Given the description of an element on the screen output the (x, y) to click on. 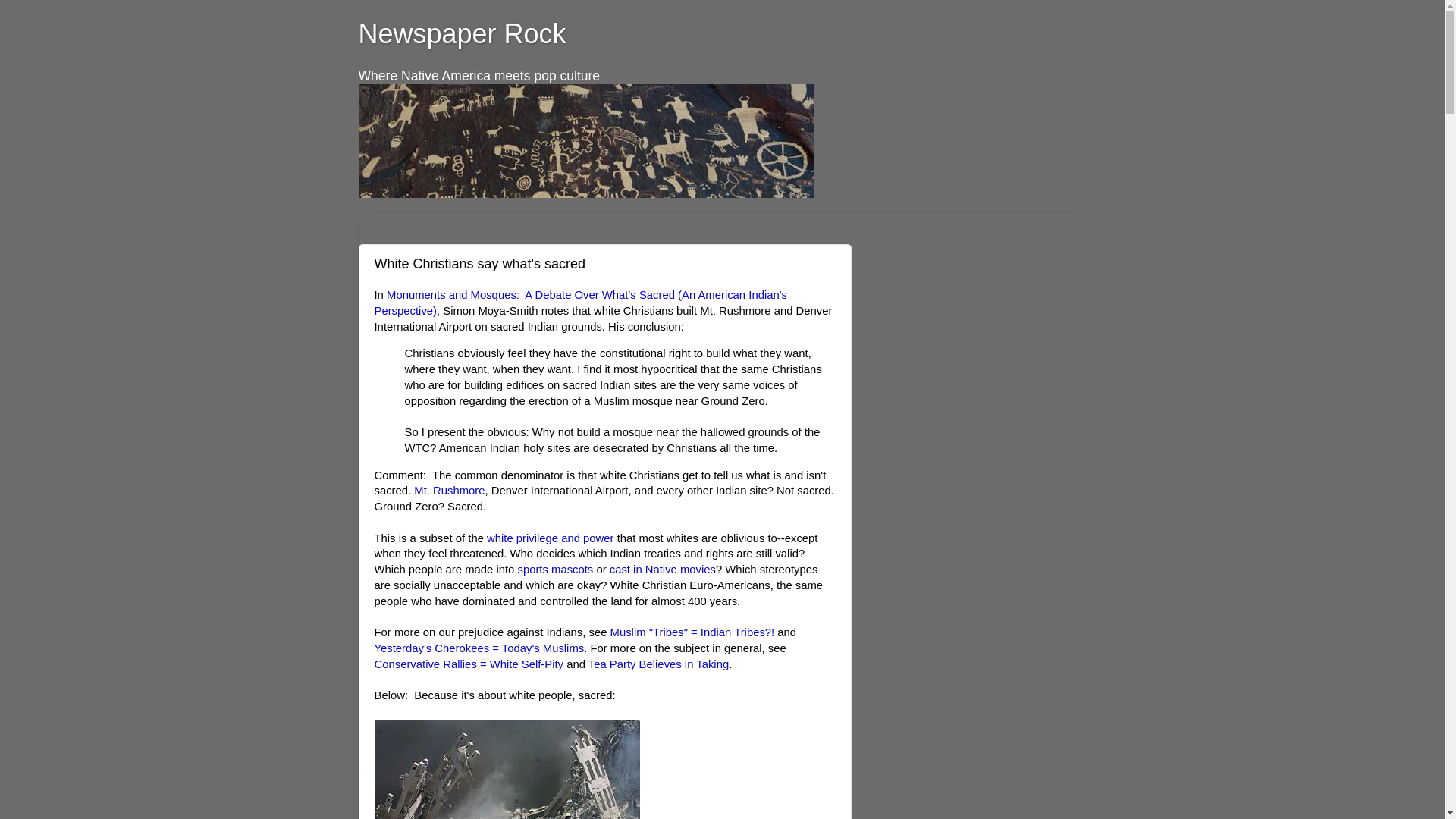
white privilege and power (550, 538)
Newspaper Rock (462, 33)
sports mascots (554, 569)
Mt. Rushmore (448, 490)
cast in Native movies (663, 569)
Tea Party Believes in Taking (658, 664)
